Given the description of an element on the screen output the (x, y) to click on. 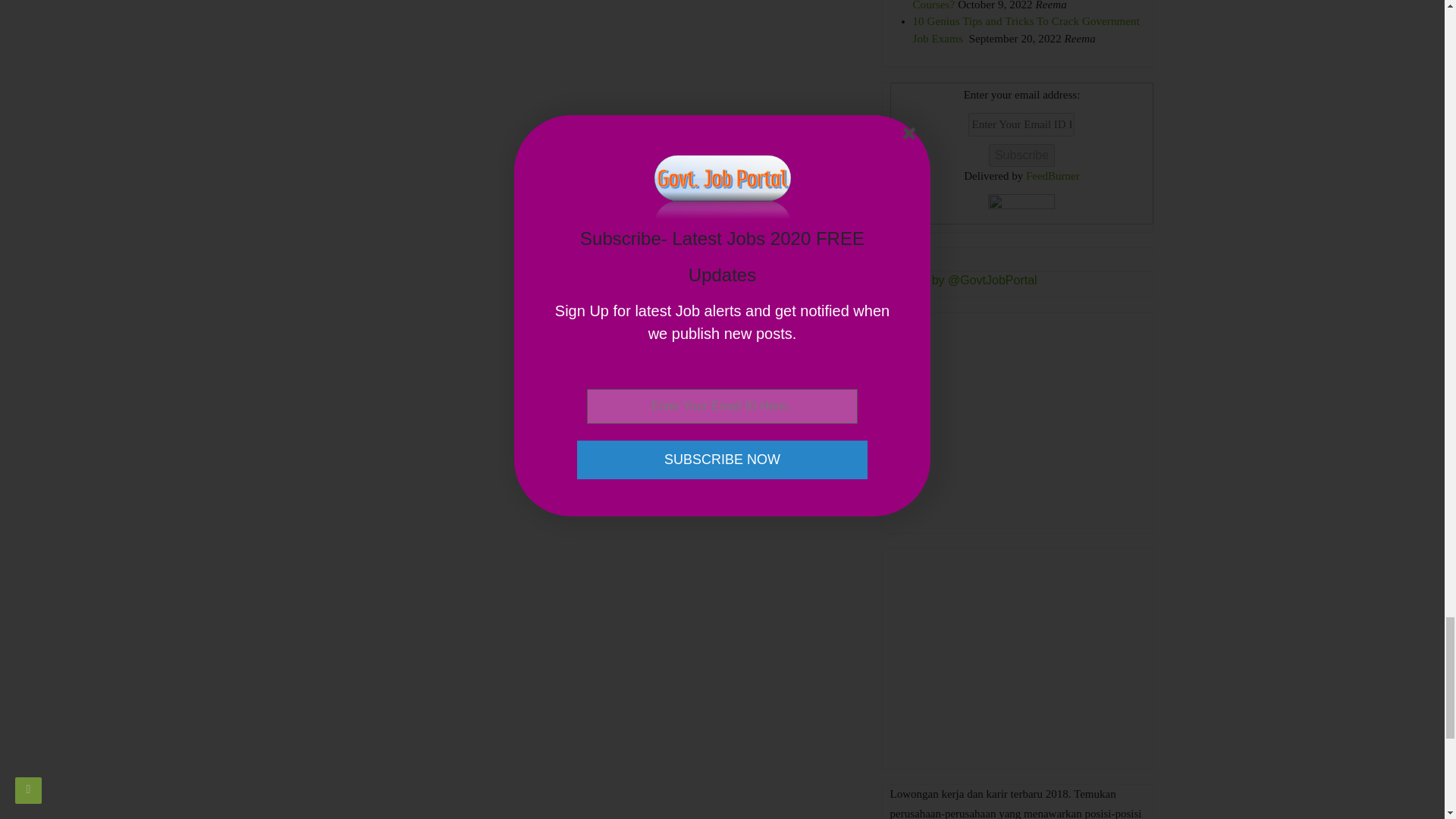
Subscribe (1021, 155)
